Given the description of an element on the screen output the (x, y) to click on. 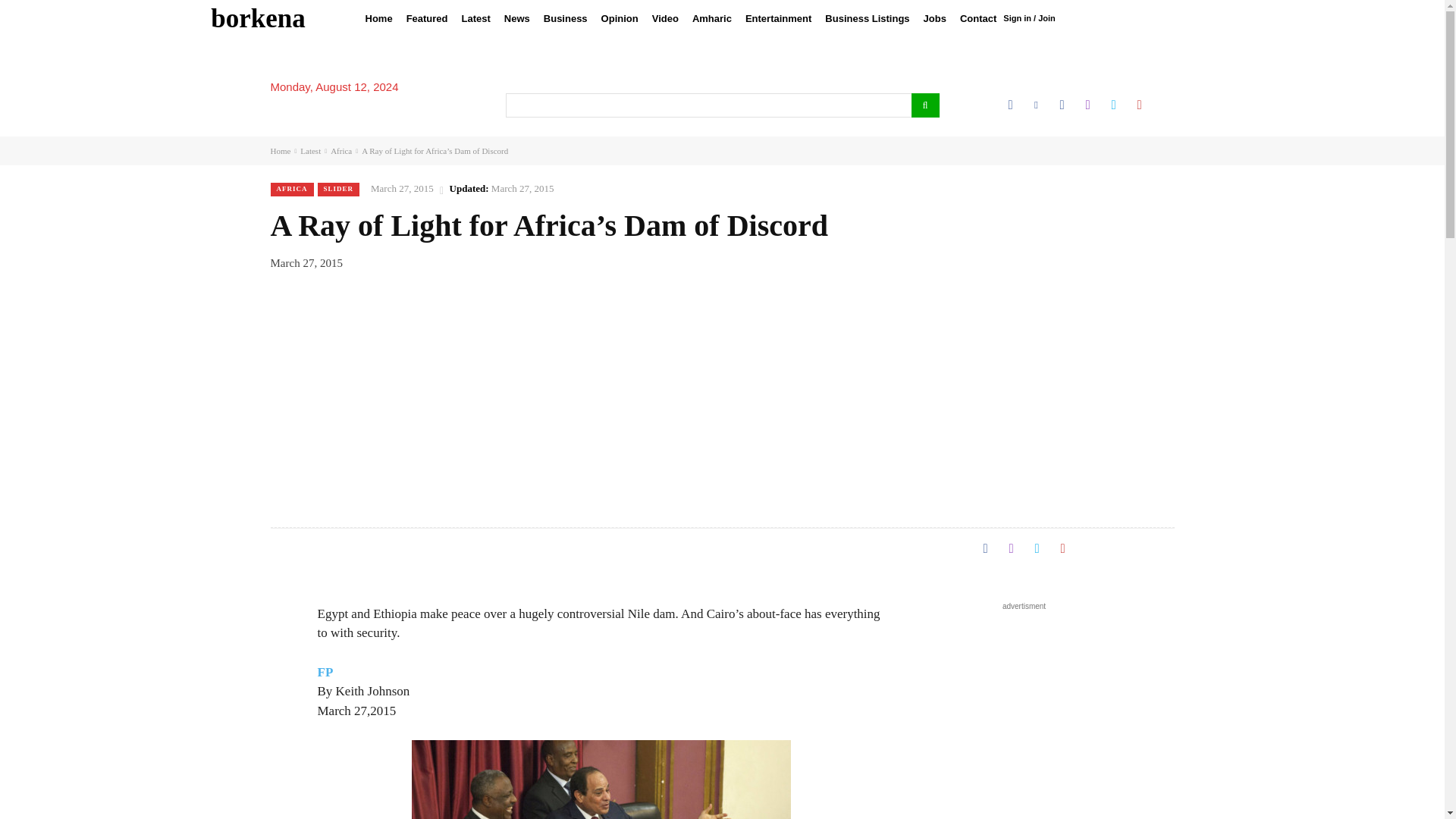
Home (378, 18)
borkena (257, 18)
Latest (475, 18)
Entertainment (778, 18)
Amharic (711, 18)
Ethiopian News and Opinion  (257, 18)
Business (565, 18)
Opinion (619, 18)
Featured (426, 18)
News (517, 18)
